Given the description of an element on the screen output the (x, y) to click on. 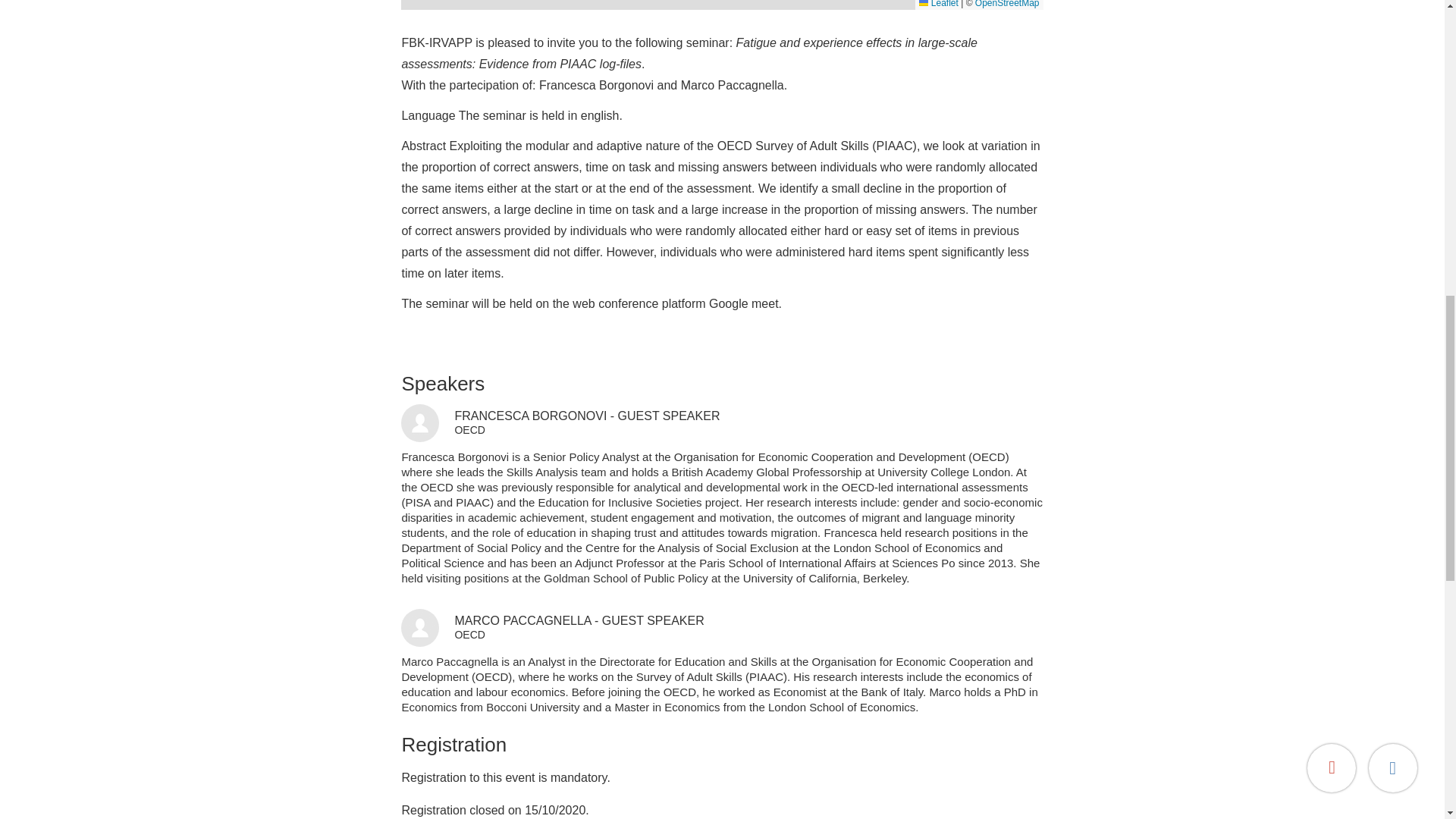
A JavaScript library for interactive maps (938, 4)
